Given the description of an element on the screen output the (x, y) to click on. 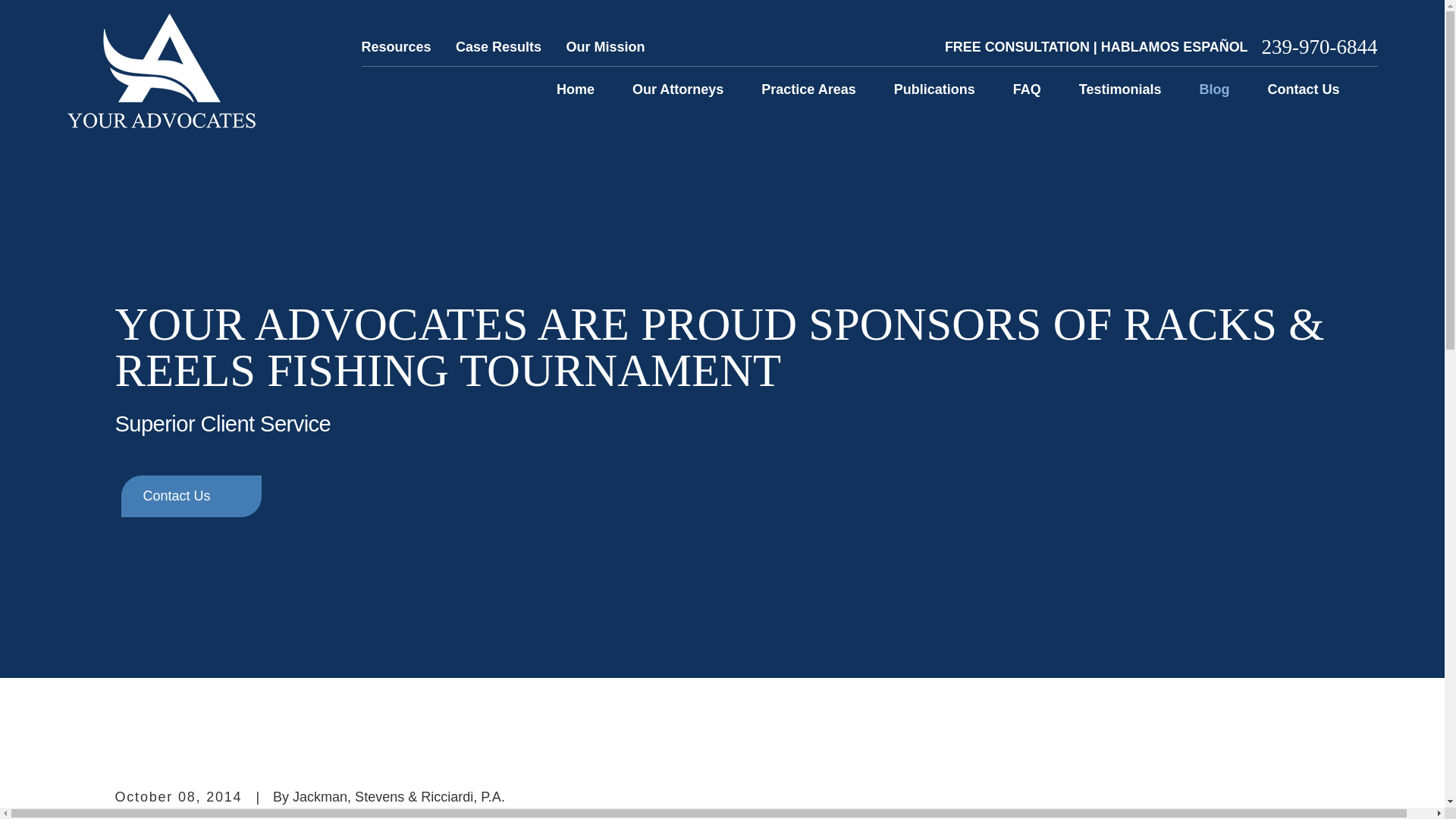
Blog (1213, 89)
Home (575, 89)
Your Advocates (160, 70)
Resources (395, 46)
Publications (934, 89)
Case Results (498, 46)
FAQ (1027, 89)
Practice Areas (808, 89)
Our Attorneys (677, 89)
Testimonials (1119, 89)
Our Mission (605, 46)
Home (160, 70)
239-970-6844 (1319, 46)
